Given the description of an element on the screen output the (x, y) to click on. 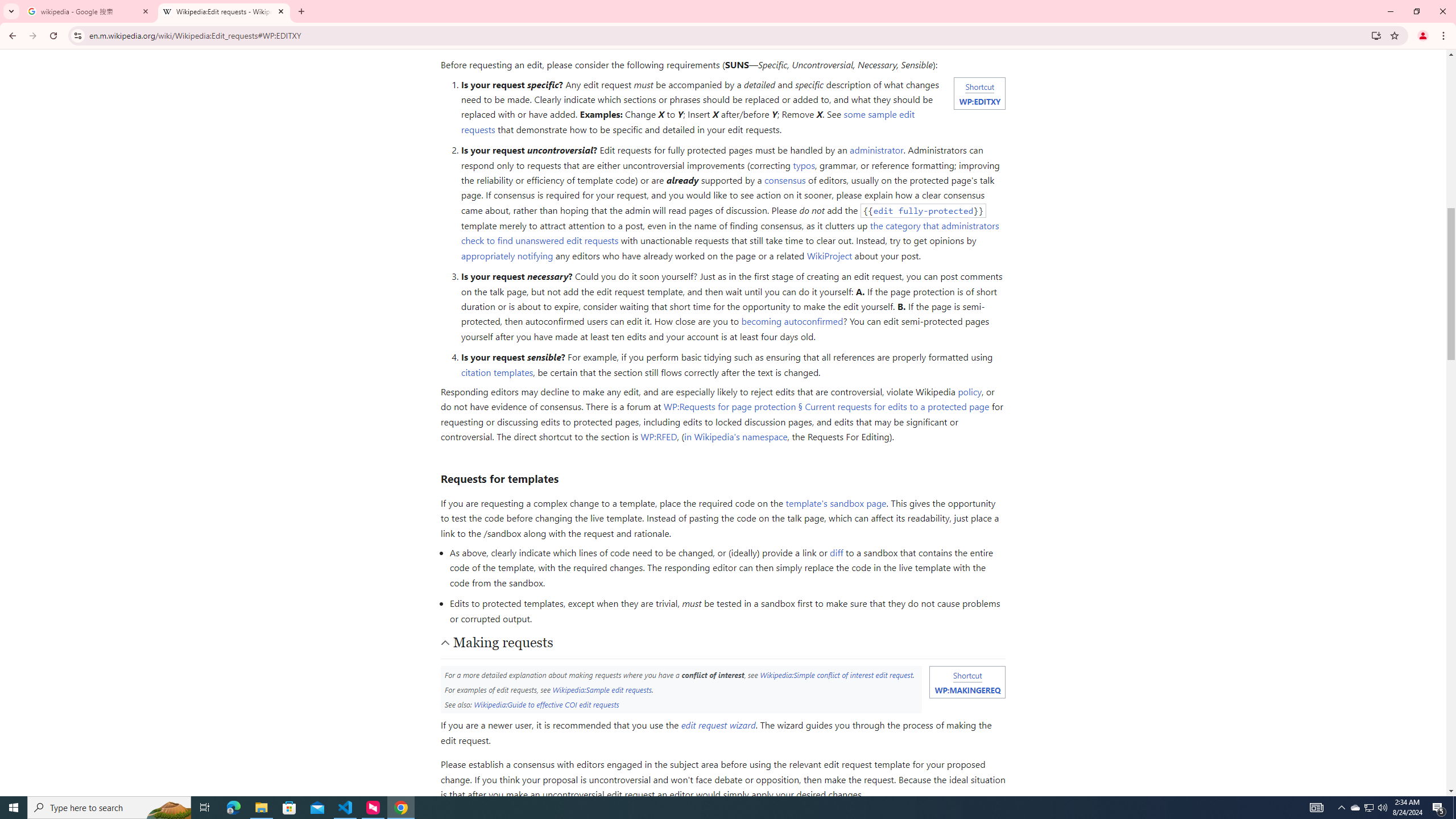
Wikipedia:Edit requests - Wikipedia (224, 11)
Close (280, 11)
WP:EDITXY (979, 100)
Back (10, 35)
administrator (877, 150)
typos (804, 164)
WP:RFED (658, 436)
Minimize (1390, 11)
Chrome (1445, 35)
policy (969, 390)
